Given the description of an element on the screen output the (x, y) to click on. 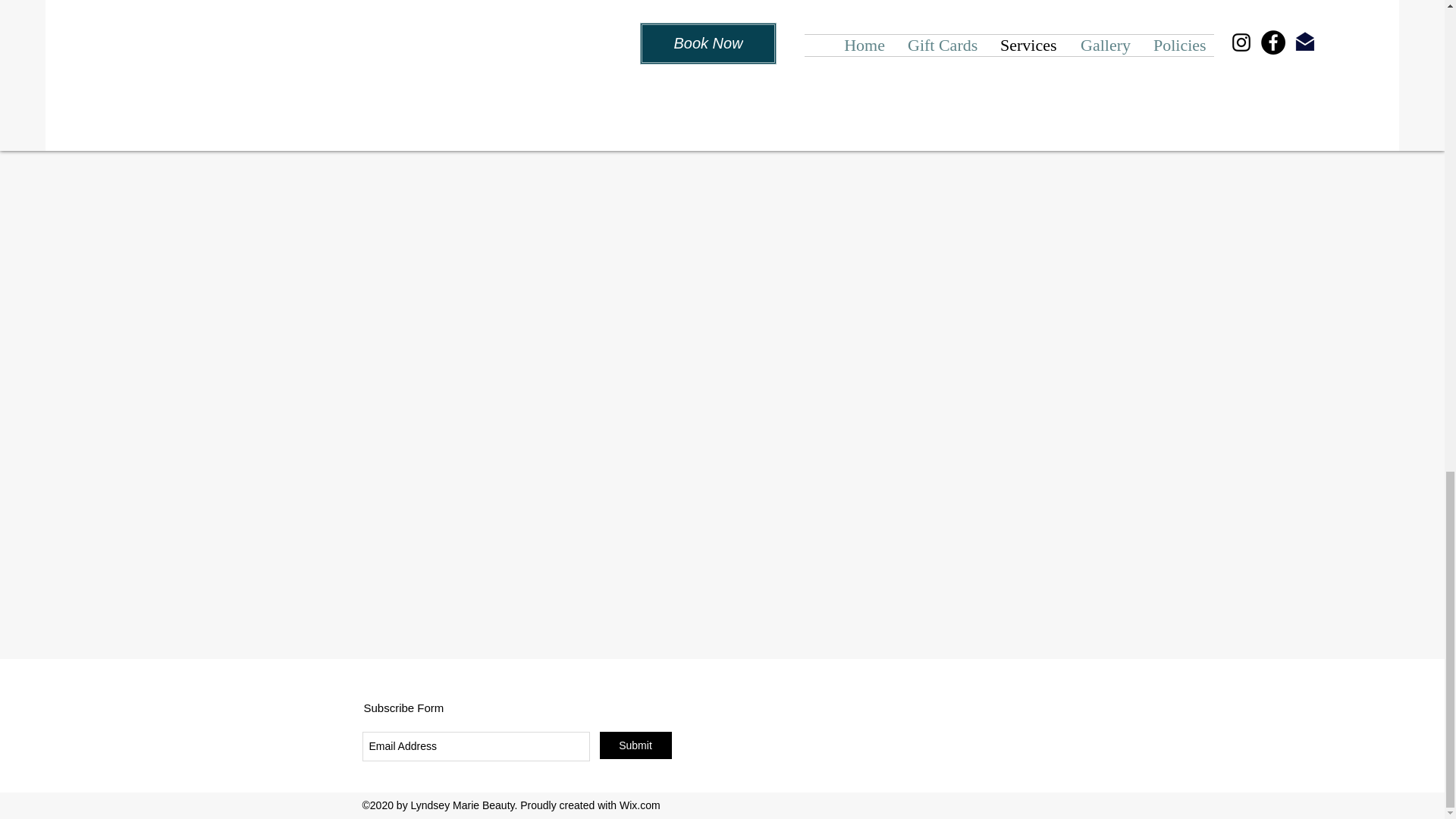
Submit (634, 745)
